Given the description of an element on the screen output the (x, y) to click on. 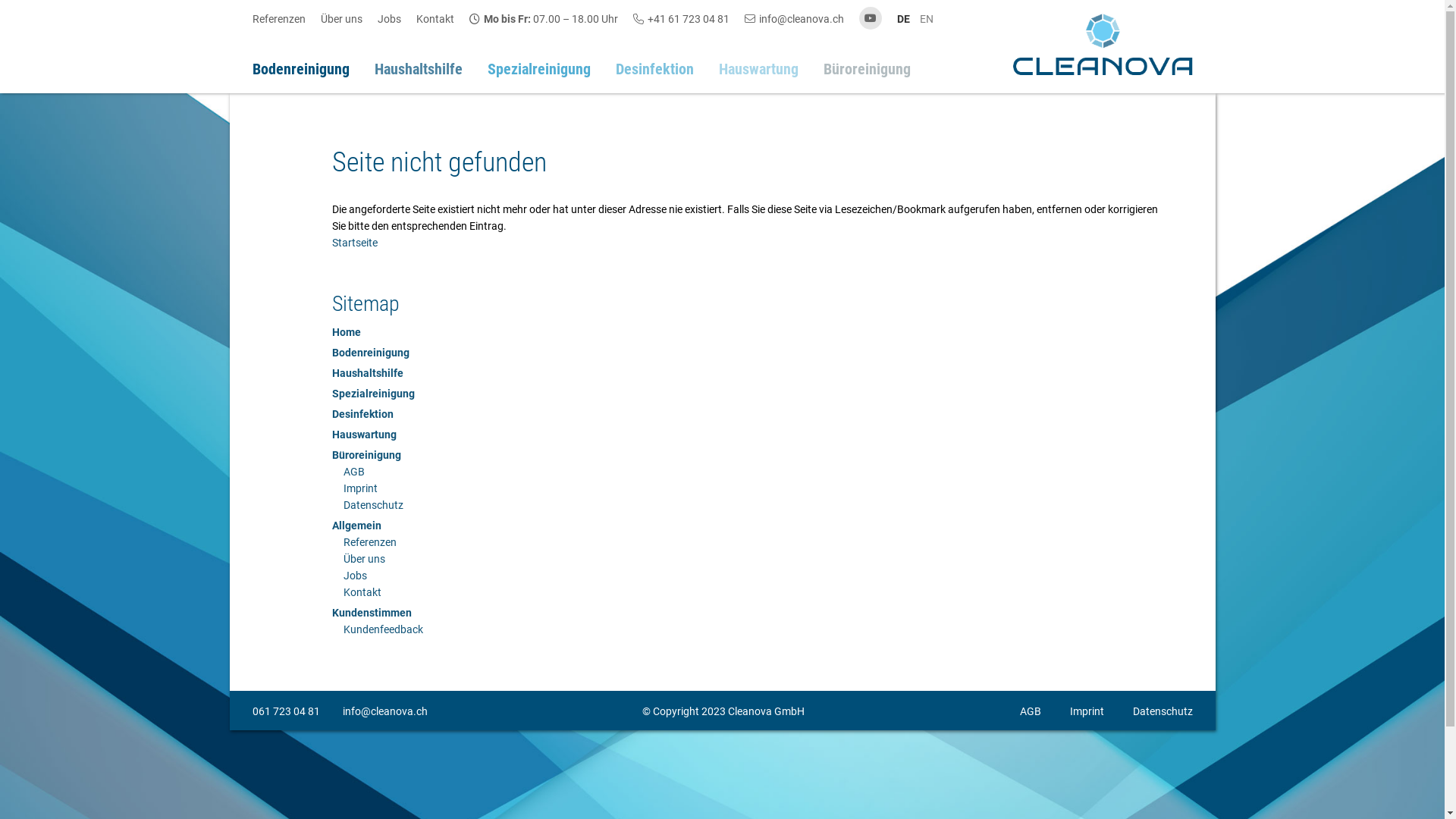
Datenschutz Element type: text (1162, 711)
Imprint Element type: text (359, 488)
Kontakt Element type: text (441, 18)
Datenschutz Element type: text (372, 504)
Spezialreinigung Element type: text (537, 69)
Haushaltshilfe Element type: text (367, 373)
Desinfektion Element type: text (362, 413)
Jobs Element type: text (396, 18)
DE Element type: text (902, 18)
Spezialreinigung Element type: text (373, 393)
Kundenstimmen Element type: text (371, 612)
Hauswartung Element type: text (758, 69)
Kontakt Element type: text (361, 592)
+41 61 723 04 81 Element type: text (688, 18)
Bodenreinigung Element type: text (299, 69)
Imprint Element type: text (1086, 711)
info@cleanova.ch Element type: text (384, 711)
Hauswartung Element type: text (364, 434)
Kundenfeedback Element type: text (382, 629)
Haushaltshilfe Element type: text (418, 69)
Allgemein Element type: text (356, 525)
Referenzen Element type: text (368, 542)
Referenzen Element type: text (285, 18)
Startseite Element type: text (354, 242)
Home Element type: text (346, 332)
Bodenreinigung Element type: text (370, 352)
Desinfektion Element type: text (654, 69)
AGB Element type: text (353, 471)
AGB Element type: text (1029, 711)
info@cleanova.ch Element type: text (800, 18)
Jobs Element type: text (354, 575)
EN Element type: text (925, 18)
